Given the description of an element on the screen output the (x, y) to click on. 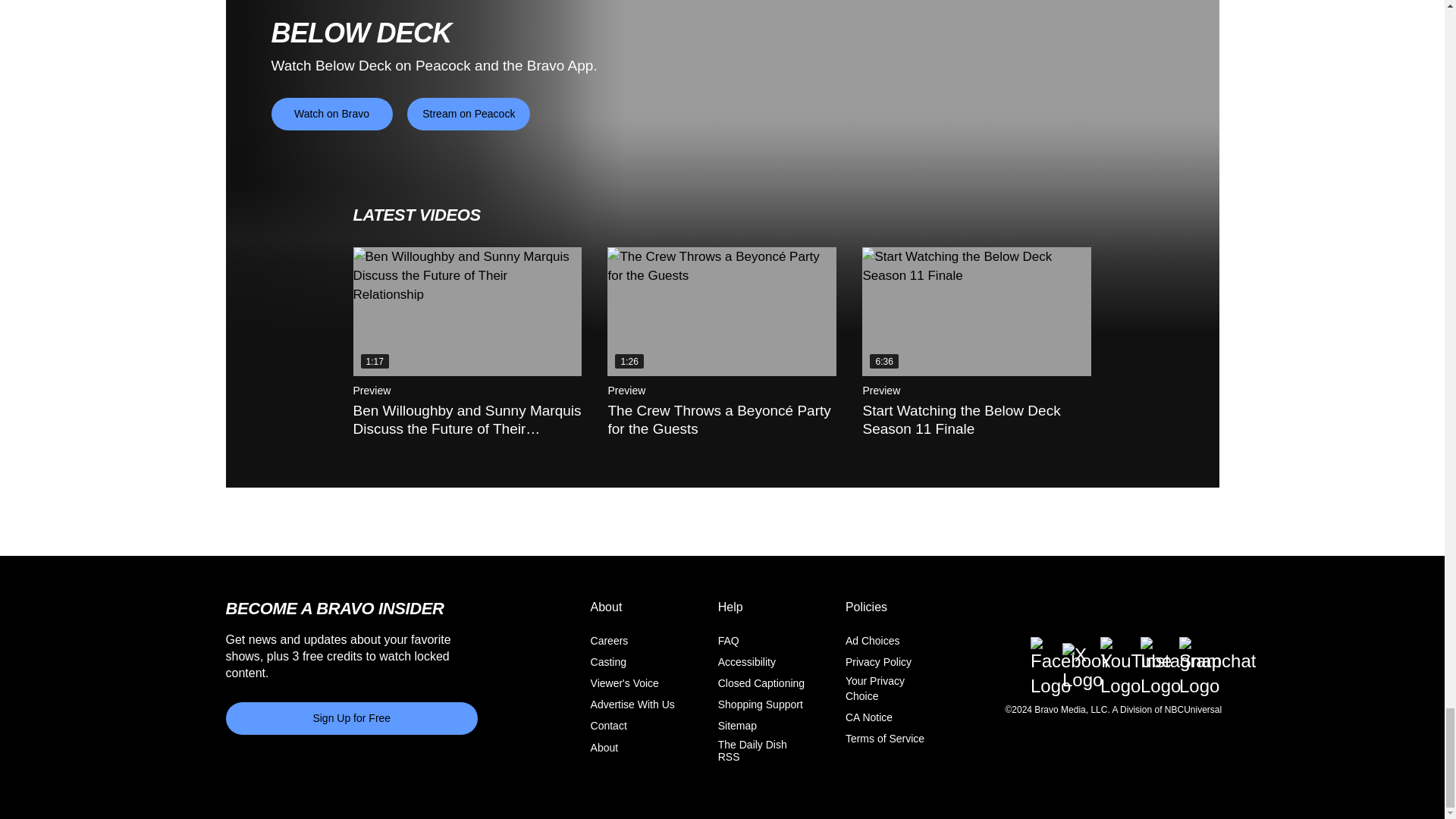
Advertise With Us (633, 704)
Start Watching the Below Deck Season 11 Finale (975, 311)
